Given the description of an element on the screen output the (x, y) to click on. 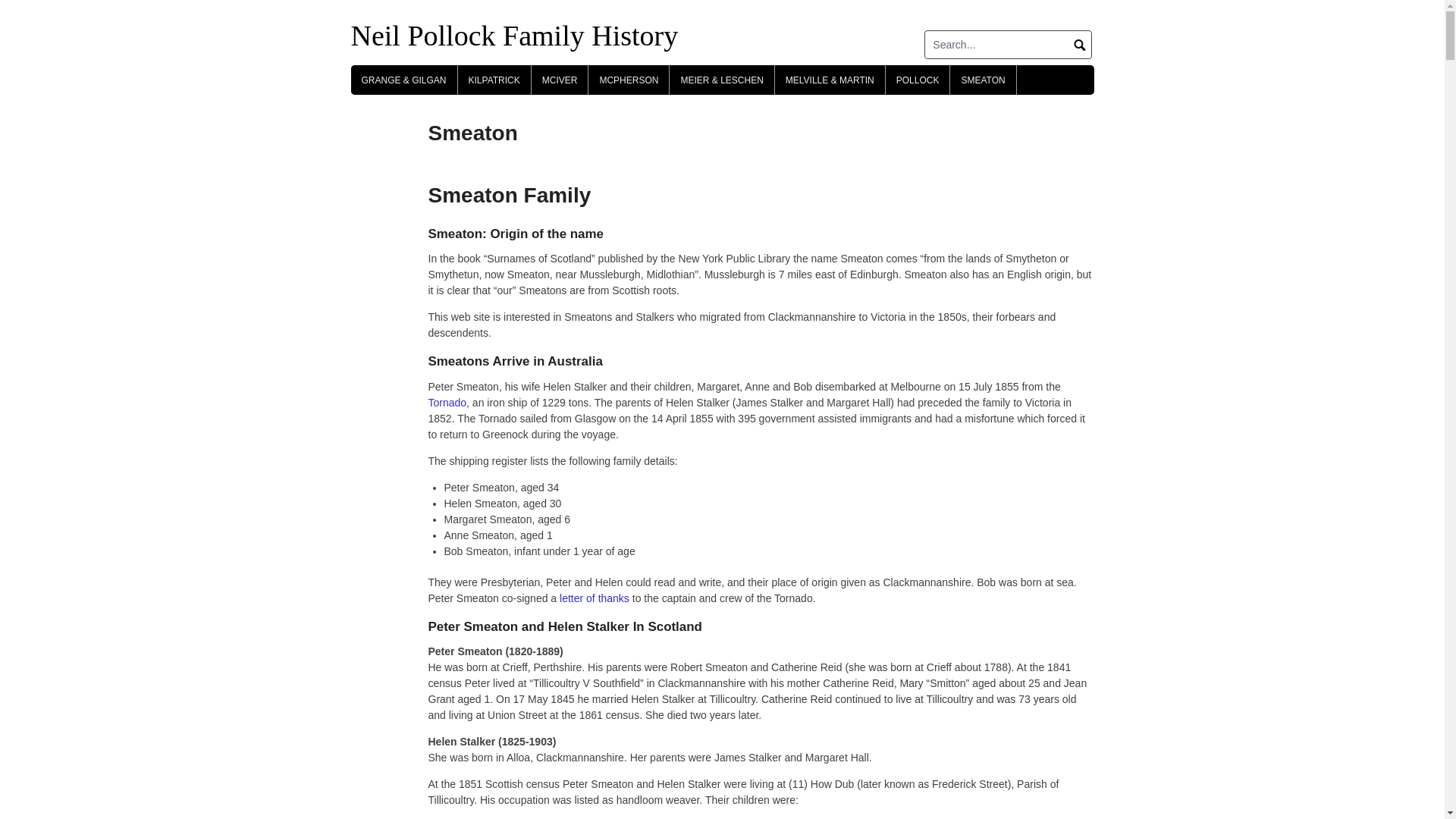
MEIER & LESCHEN Element type: text (721, 79)
MCIVER Element type: text (559, 79)
letter of thanks Element type: text (595, 598)
POLLOCK Element type: text (917, 79)
Tornado Element type: text (446, 402)
Search for: Element type: hover (1008, 44)
KILPATRICK Element type: text (494, 79)
MELVILLE & MARTIN Element type: text (829, 79)
Neil Pollock Family History Element type: text (513, 35)
MCPHERSON Element type: text (628, 79)
GRANGE & GILGAN Element type: text (403, 79)
SMEATON Element type: text (982, 79)
